Given the description of an element on the screen output the (x, y) to click on. 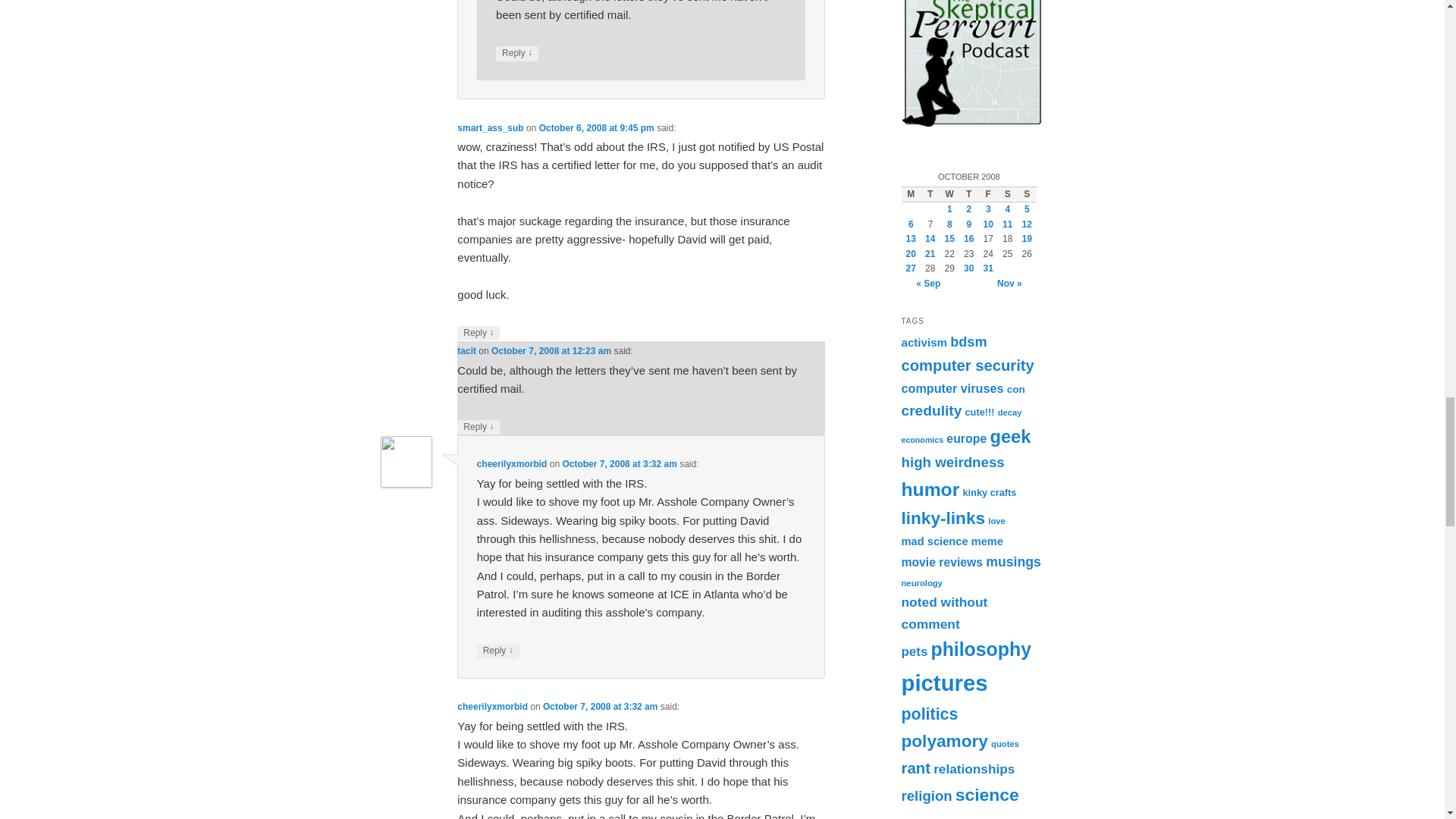
The Skeptical Pervert Podcast (972, 63)
Monday (910, 194)
Tuesday (930, 194)
